Given the description of an element on the screen output the (x, y) to click on. 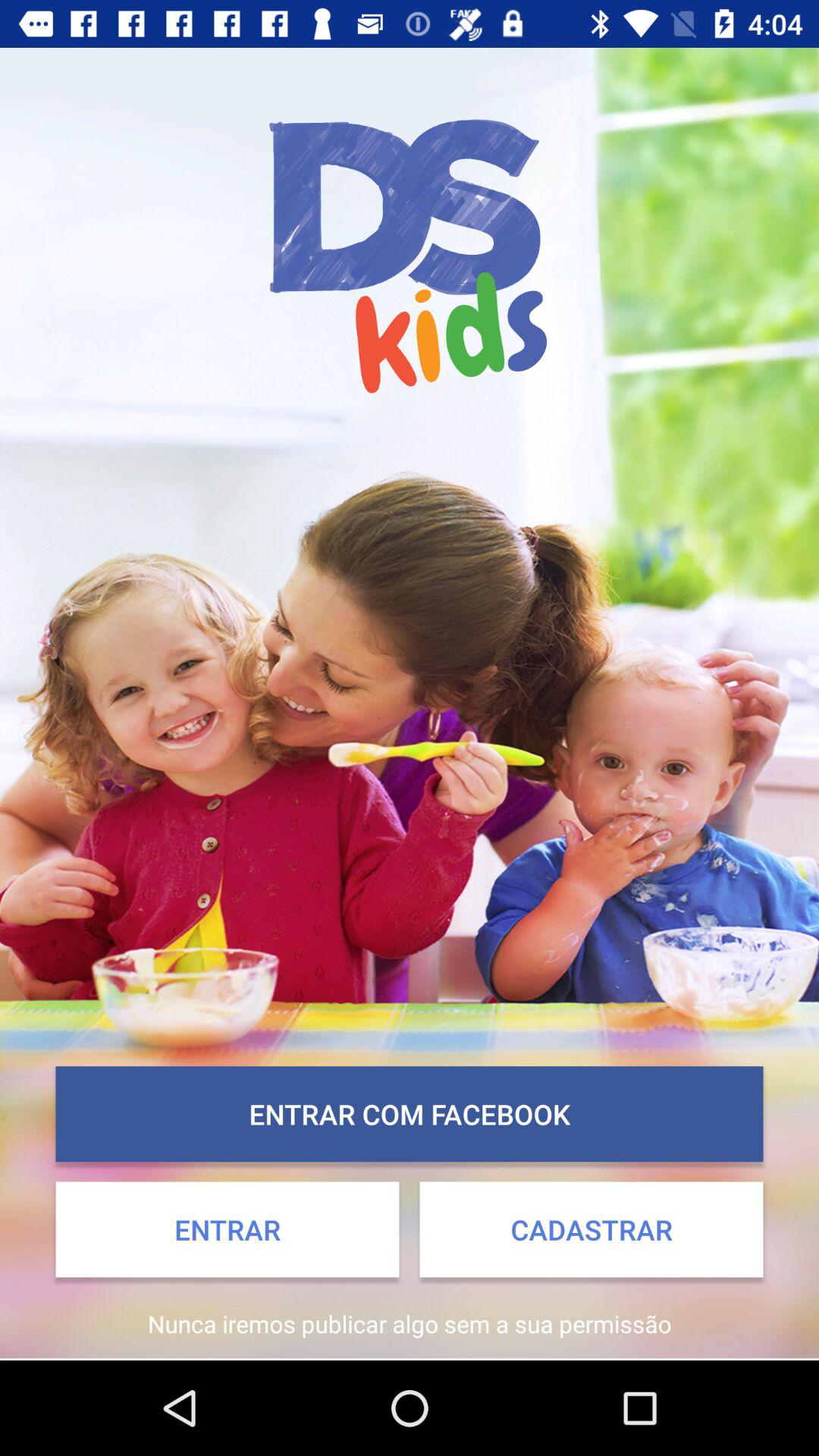
launch the button below the entrar com facebook button (591, 1229)
